Given the description of an element on the screen output the (x, y) to click on. 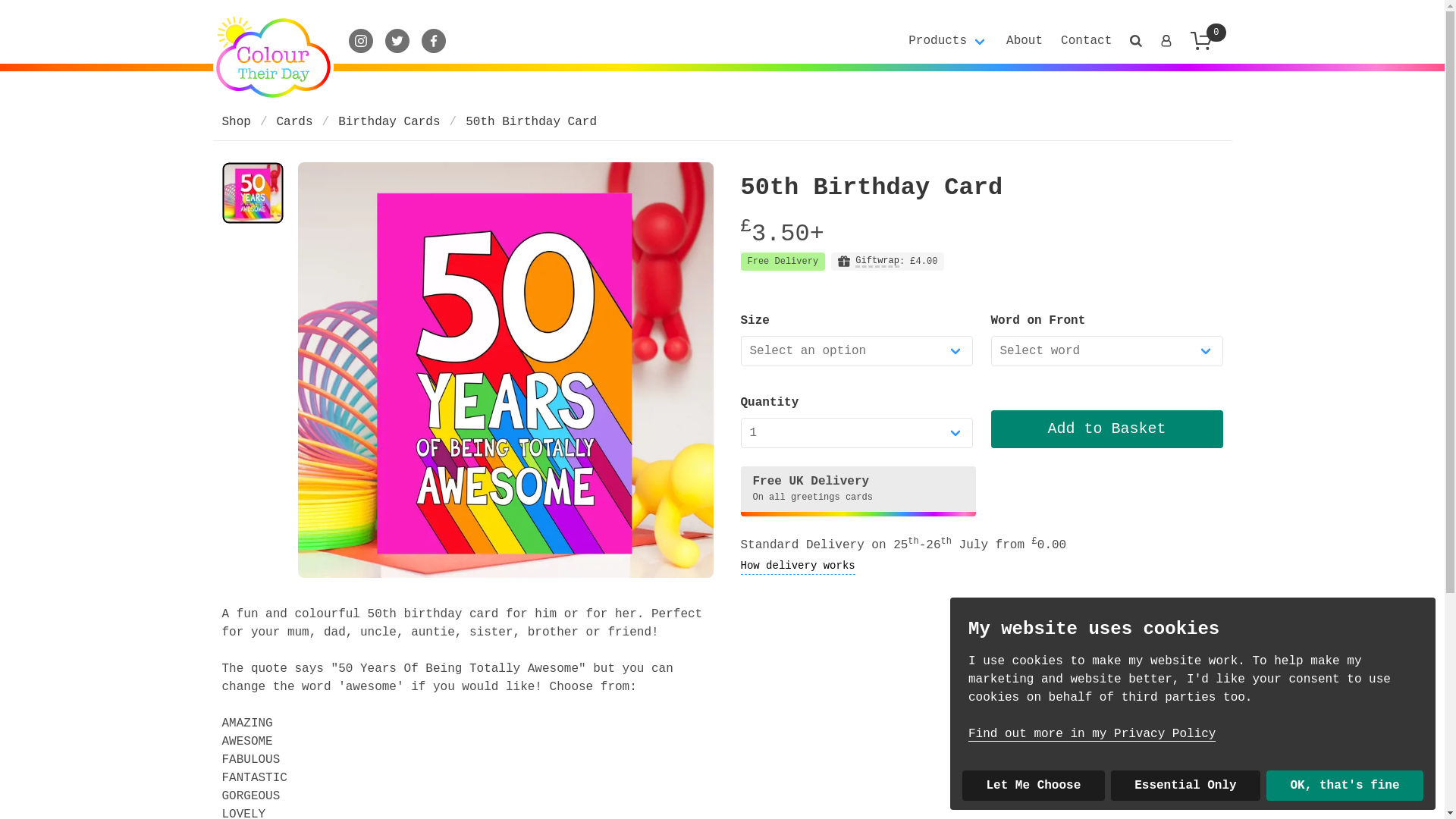
50th Birthday Card (531, 122)
Giftwrap (877, 261)
Birthday Cards (388, 122)
Add to Basket (1106, 428)
About (1024, 40)
Shop (240, 122)
Colour Their Day (272, 57)
Cards (294, 122)
Products (948, 40)
Contact (1086, 40)
0 (1210, 40)
